Given the description of an element on the screen output the (x, y) to click on. 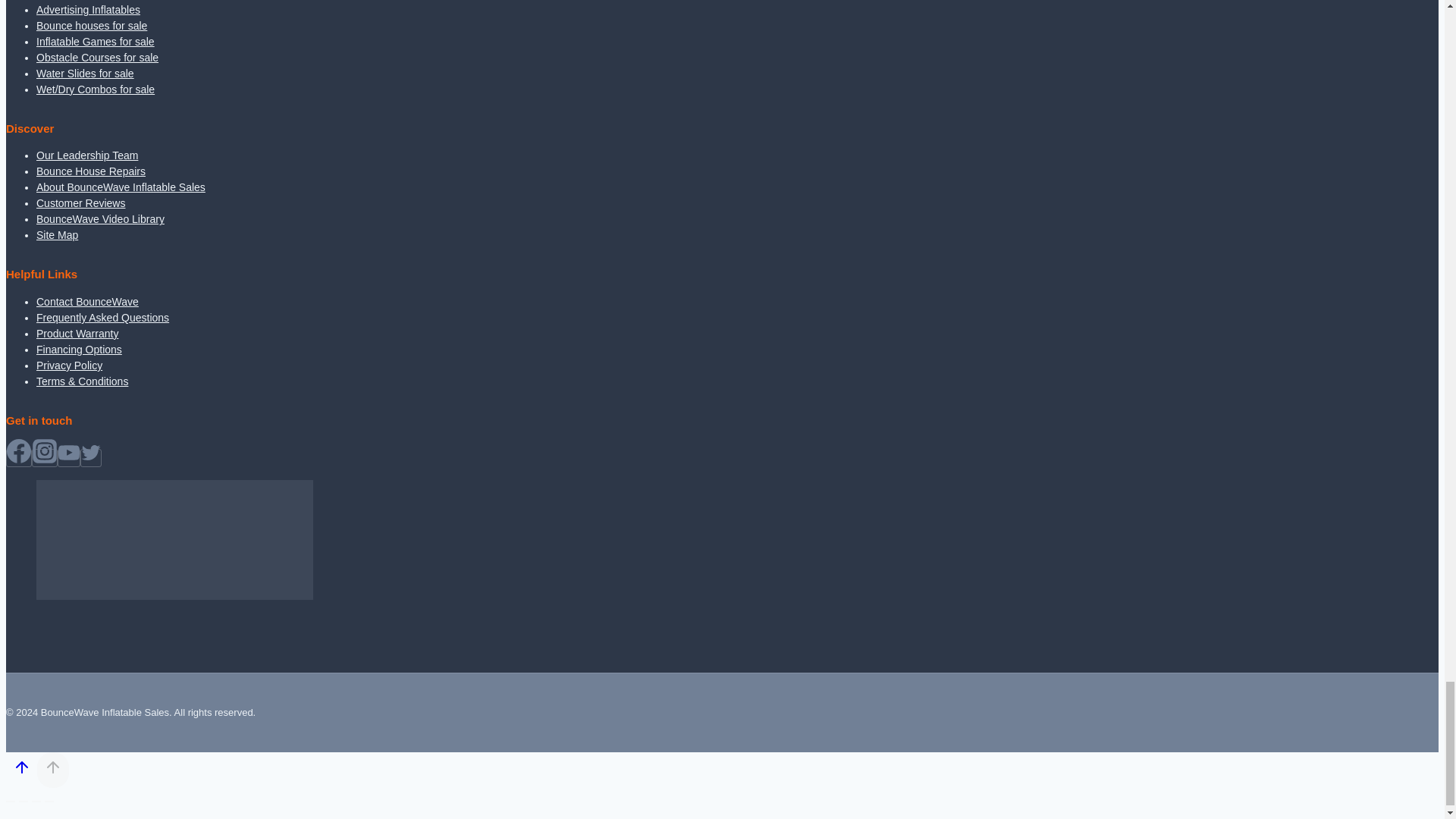
Scroll to top (21, 771)
Facebook (18, 450)
YouTube (69, 452)
Twitter (90, 452)
SCROLL TO TOP (52, 767)
Scroll to top (21, 767)
Instagram (44, 450)
